Given the description of an element on the screen output the (x, y) to click on. 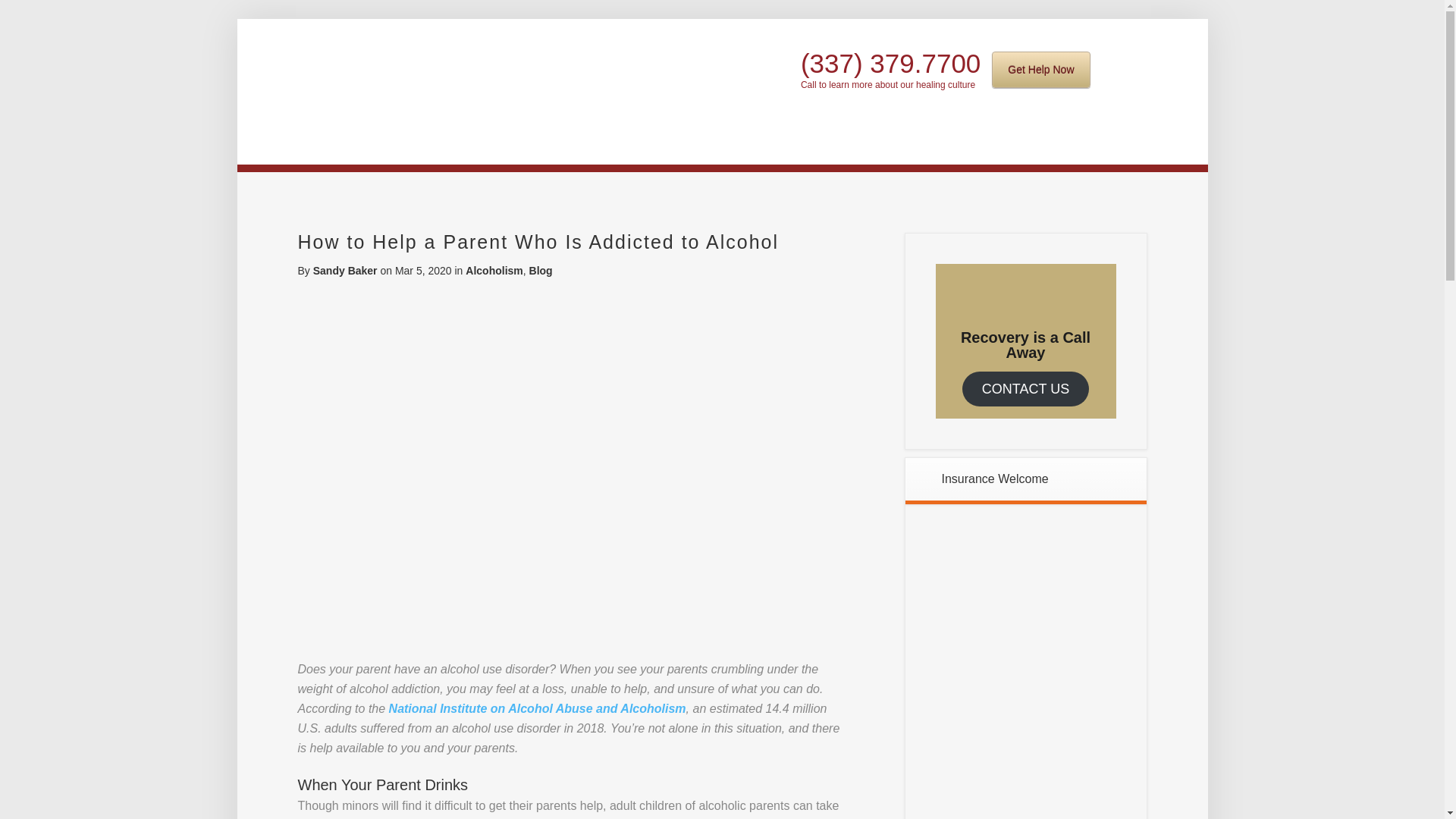
Posts by Sandy Baker (345, 270)
Get Help Now (1040, 69)
